Given the description of an element on the screen output the (x, y) to click on. 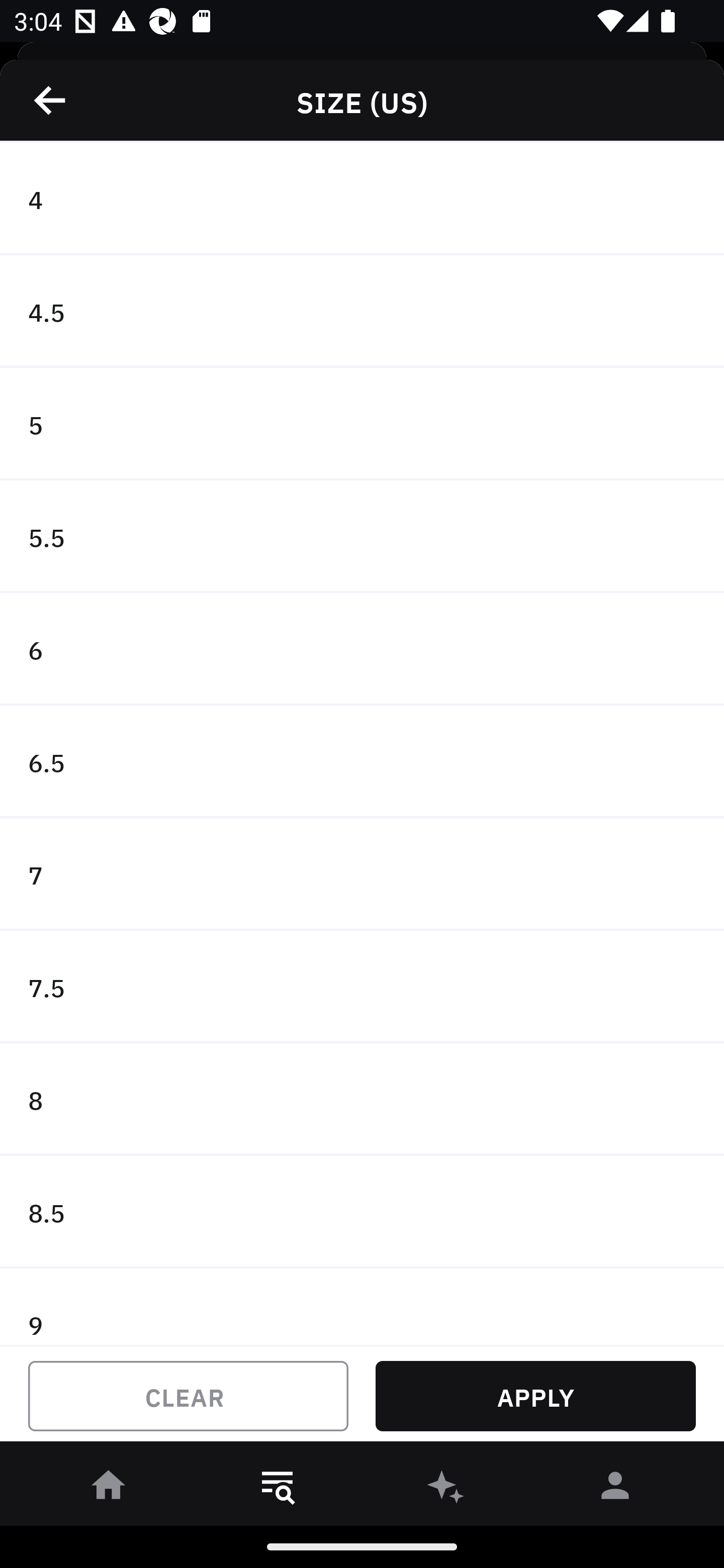
 (50, 100)
4 (362, 198)
4.5 (362, 311)
5 (362, 423)
5.5 (362, 535)
6 (362, 648)
6.5 (362, 761)
7 (362, 874)
7.5 (362, 986)
8 (362, 1098)
8.5 (362, 1211)
9 (362, 1306)
CLEAR  (188, 1396)
APPLY (535, 1396)
󰋜 (108, 1488)
󱎸 (277, 1488)
󰫢 (446, 1488)
󰀄 (615, 1488)
